Given the description of an element on the screen output the (x, y) to click on. 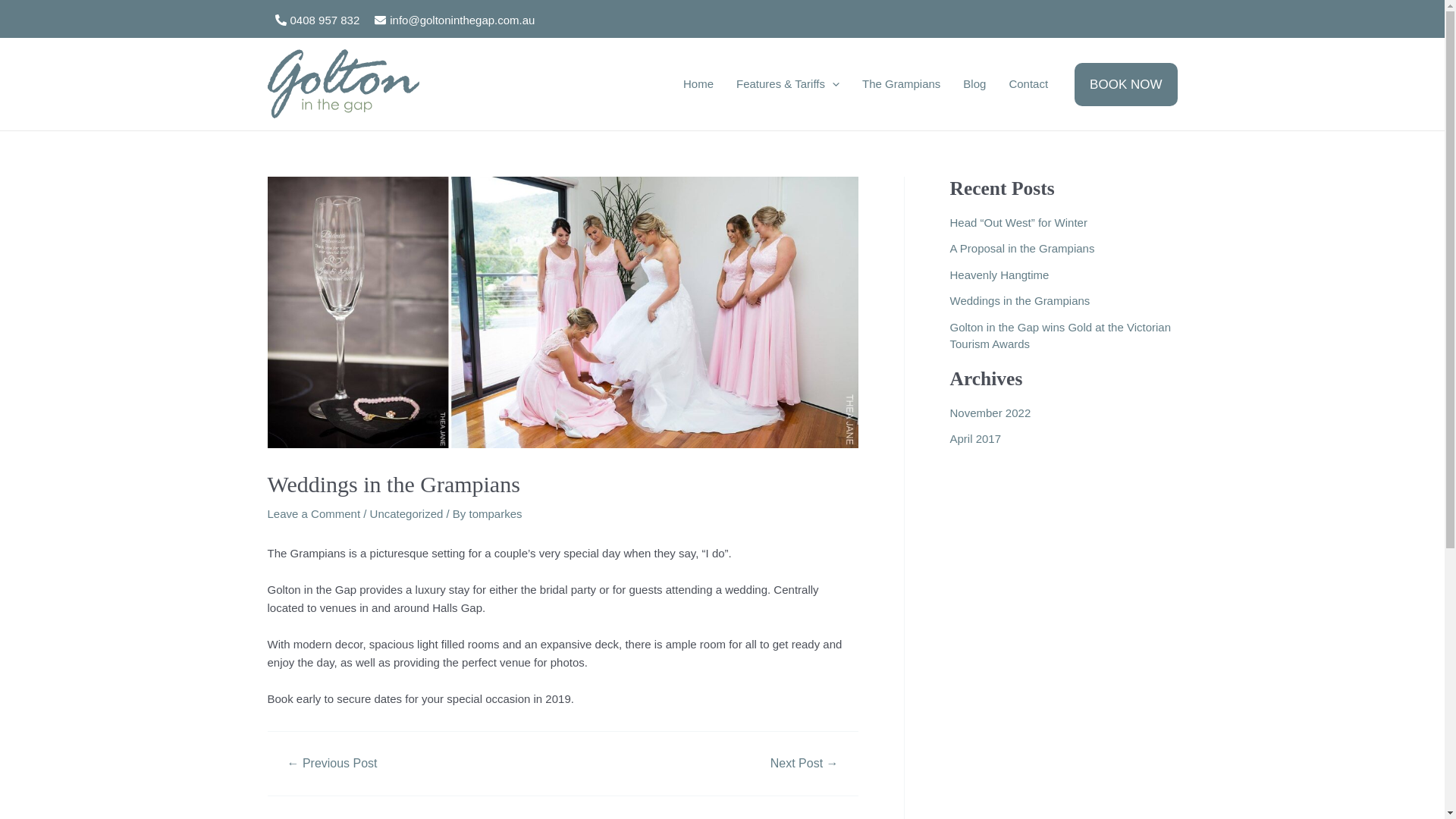
April 2017 Element type: text (975, 438)
Golton in the Gap wins Gold at the Victorian Tourism Awards Element type: text (1059, 335)
0408 957 832 Element type: text (316, 19)
info@goltoninthegap.com.au Element type: text (454, 19)
Heavenly Hangtime Element type: text (998, 274)
Weddings in the Grampians Element type: text (1019, 300)
Contact Element type: text (1028, 83)
Features & Tariffs Element type: text (787, 83)
Uncategorized Element type: text (406, 513)
Leave a Comment Element type: text (313, 513)
A Proposal in the Grampians Element type: text (1021, 247)
Home Element type: text (697, 83)
tomparkes Element type: text (495, 513)
November 2022 Element type: text (989, 412)
BOOK NOW Element type: text (1125, 83)
Blog Element type: text (974, 83)
The Grampians Element type: text (900, 83)
